Given the description of an element on the screen output the (x, y) to click on. 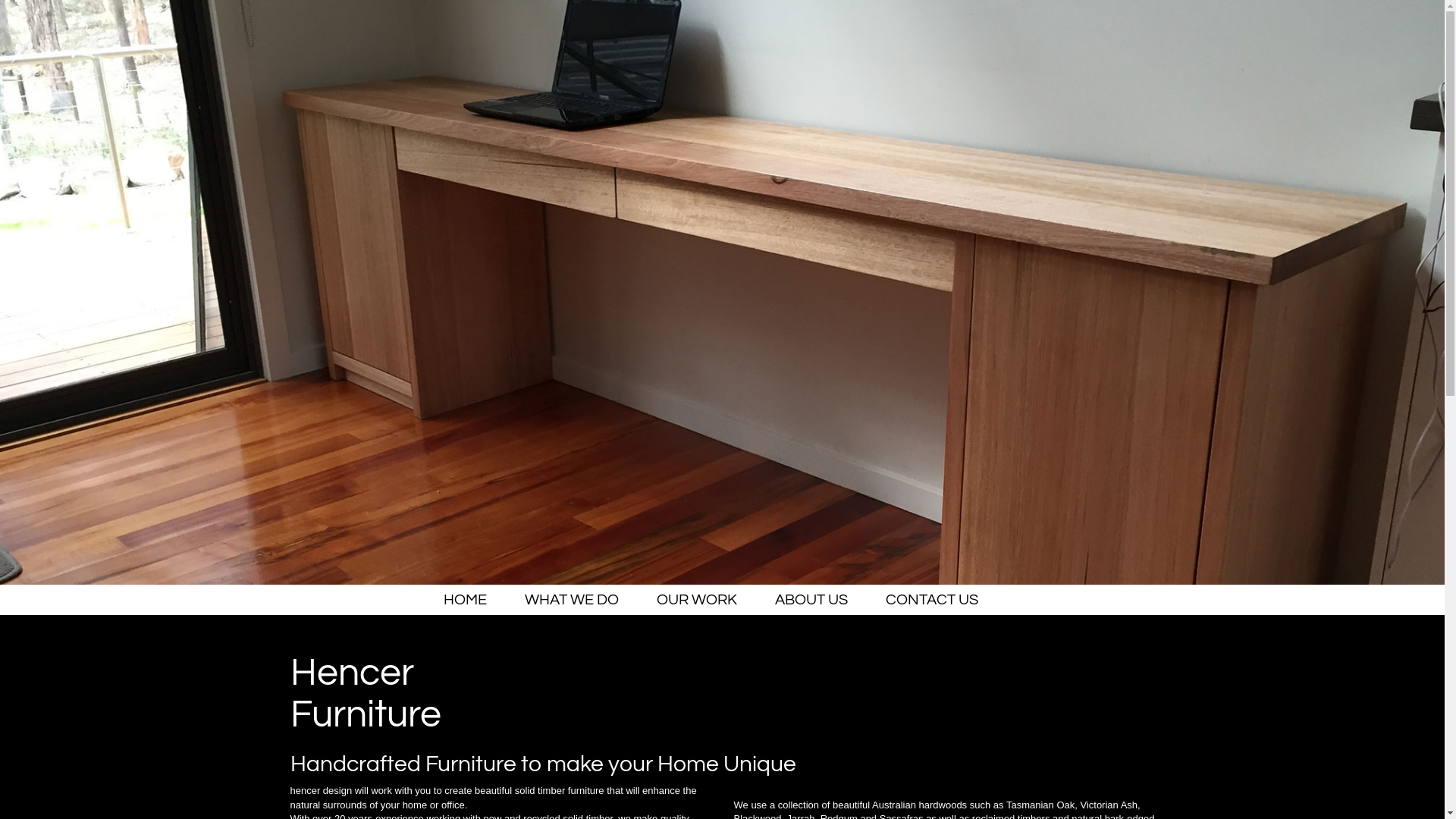
WHAT WE DO Element type: text (571, 599)
CONTACT US Element type: text (931, 599)
ABOUT US Element type: text (811, 599)
HOME Element type: text (464, 599)
OUR WORK Element type: text (696, 599)
